Given the description of an element on the screen output the (x, y) to click on. 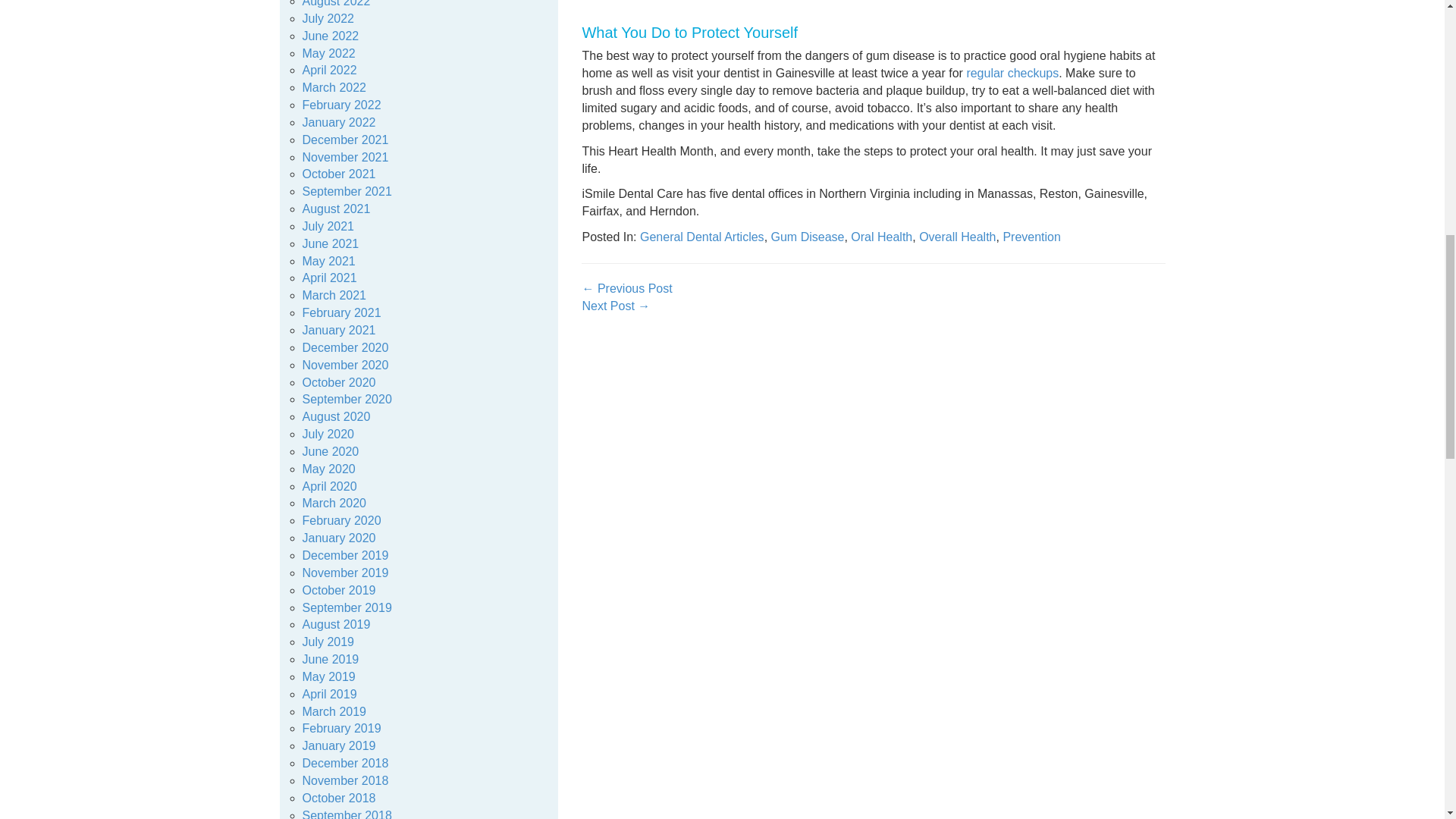
Prevention (1032, 236)
Gum Disease (807, 236)
Oral Health (881, 236)
regular checkups (1012, 72)
General Dental Articles (702, 236)
Overall Health (956, 236)
